Given the description of an element on the screen output the (x, y) to click on. 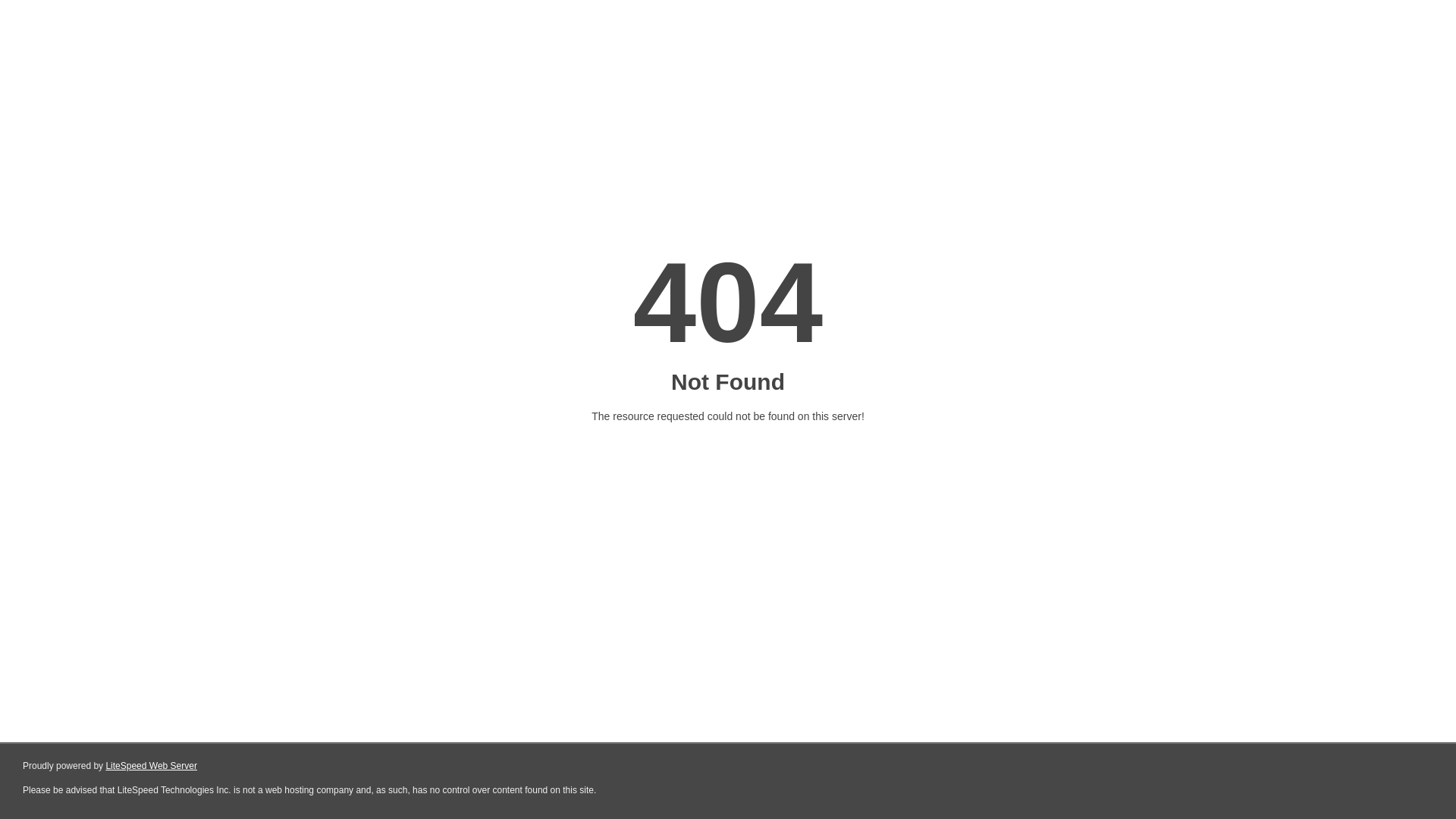
LiteSpeed Web Server Element type: text (151, 765)
